Given the description of an element on the screen output the (x, y) to click on. 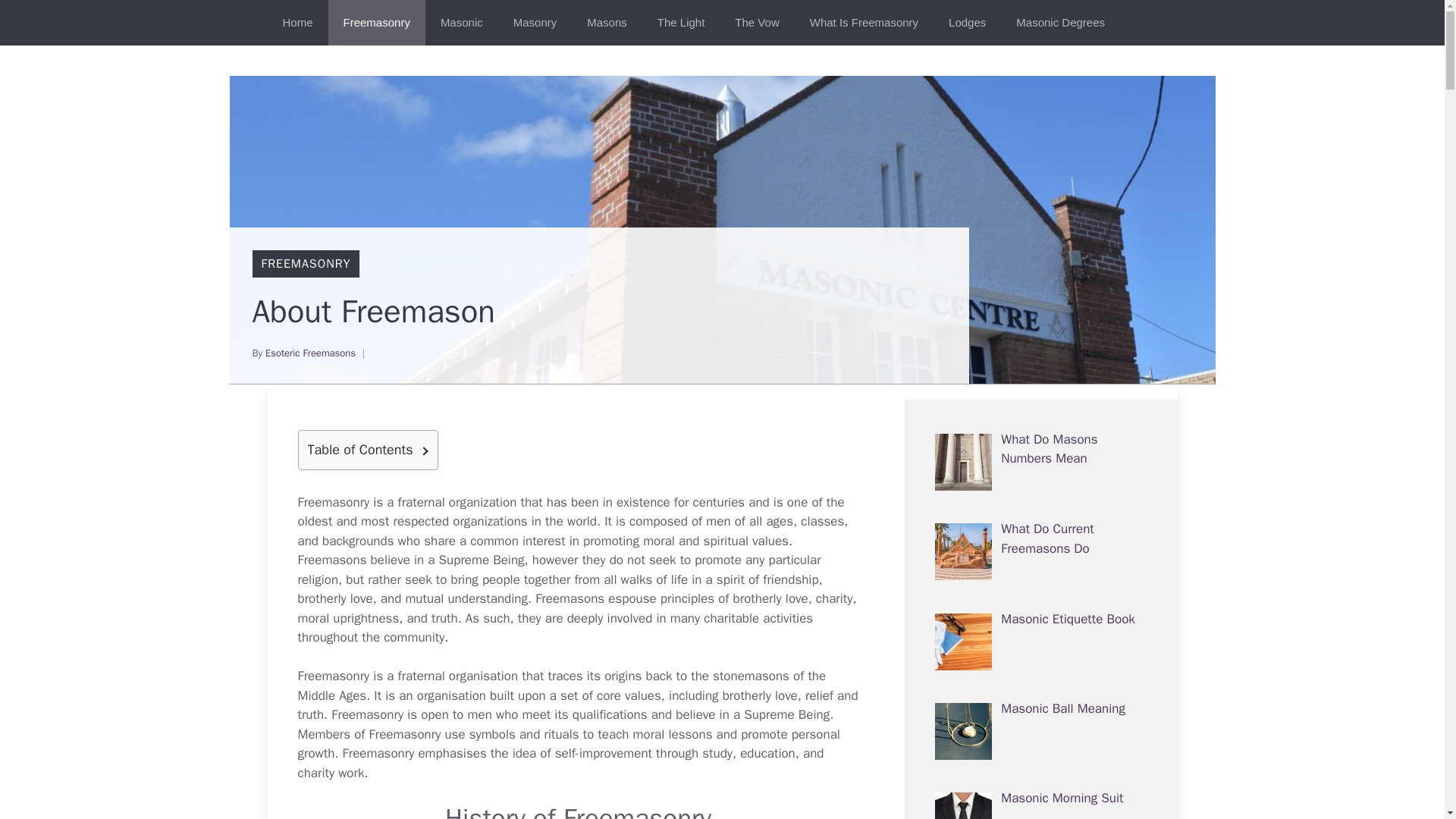
The Light (681, 22)
Esoteric Freemasons (309, 352)
What Is Freemasonry (863, 22)
Freemasonry (405, 734)
Freemasonry (333, 502)
Freemasonry (405, 734)
Lodges (967, 22)
Freemasonry (333, 675)
The Vow (756, 22)
Freemasonry (377, 22)
Masons (607, 22)
Masonry (534, 22)
Freemasonry (367, 714)
Masonic Degrees (1060, 22)
Masonic (461, 22)
